Given the description of an element on the screen output the (x, y) to click on. 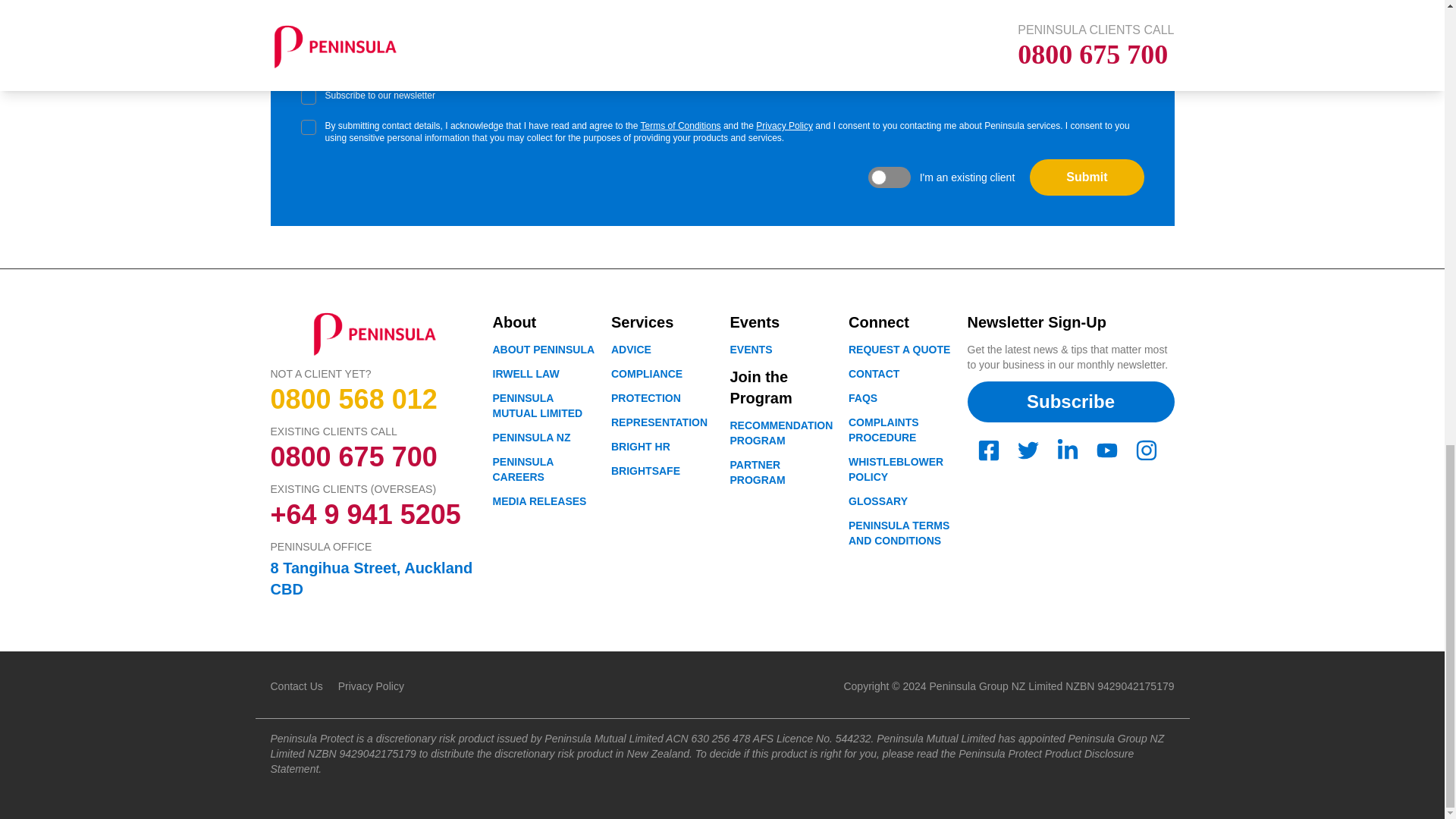
BrightHR (640, 446)
Peninsula Mutual Limited (538, 405)
on (307, 96)
Peninsula Compliance Support (646, 373)
Contact Peninsula (873, 373)
Peninsula's Partner Program (756, 472)
Peninsula Events (750, 349)
Peninsula Complaints Procedure (883, 429)
Irwell Law (526, 373)
BrightSafe (645, 470)
Employment Relations Adice (630, 349)
on (307, 127)
Peninsula Careers (523, 469)
Employsures Frequently Asked Questions (862, 398)
Peninsula Representation Services (659, 422)
